Given the description of an element on the screen output the (x, y) to click on. 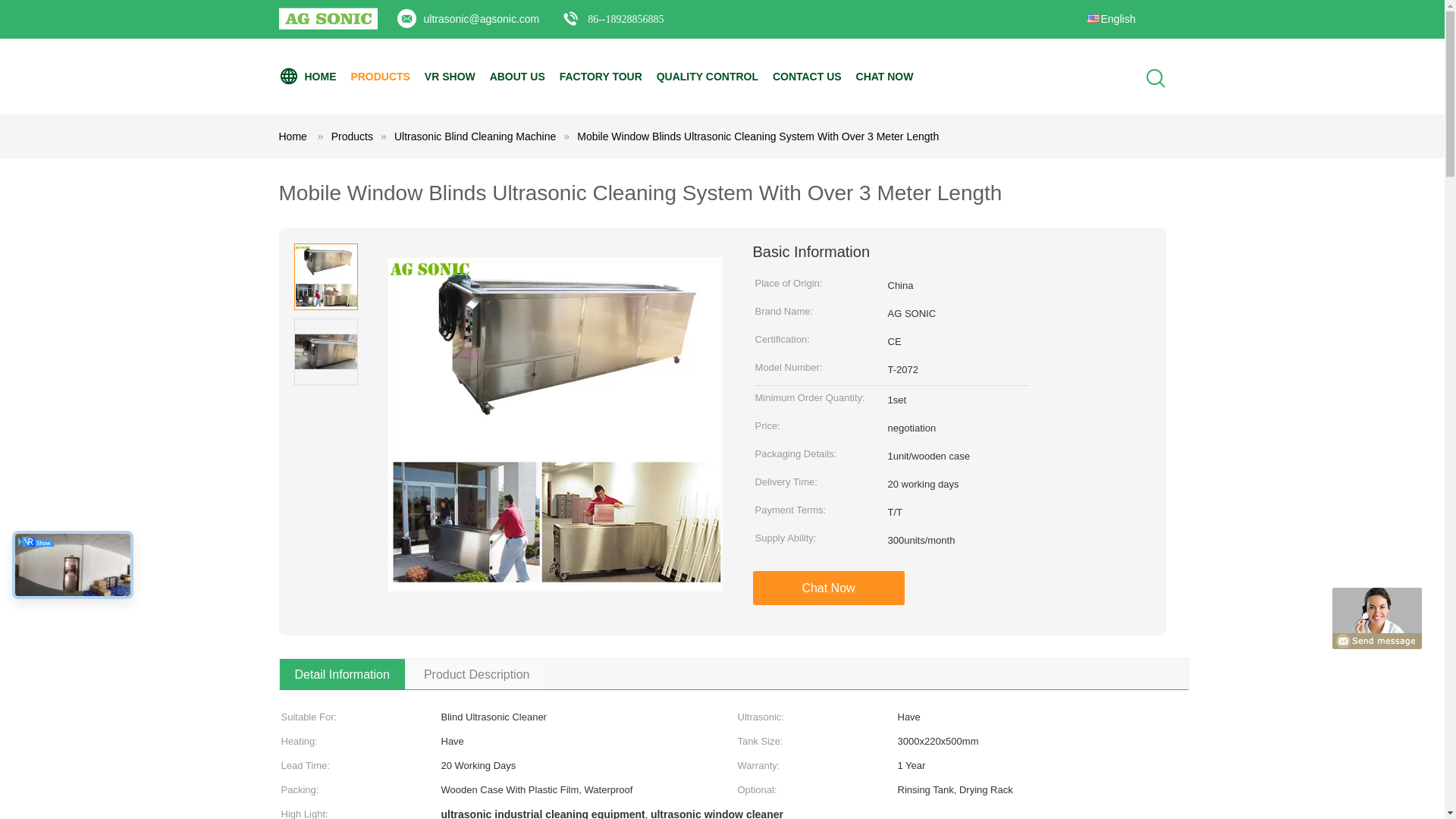
English (1109, 12)
